Given the description of an element on the screen output the (x, y) to click on. 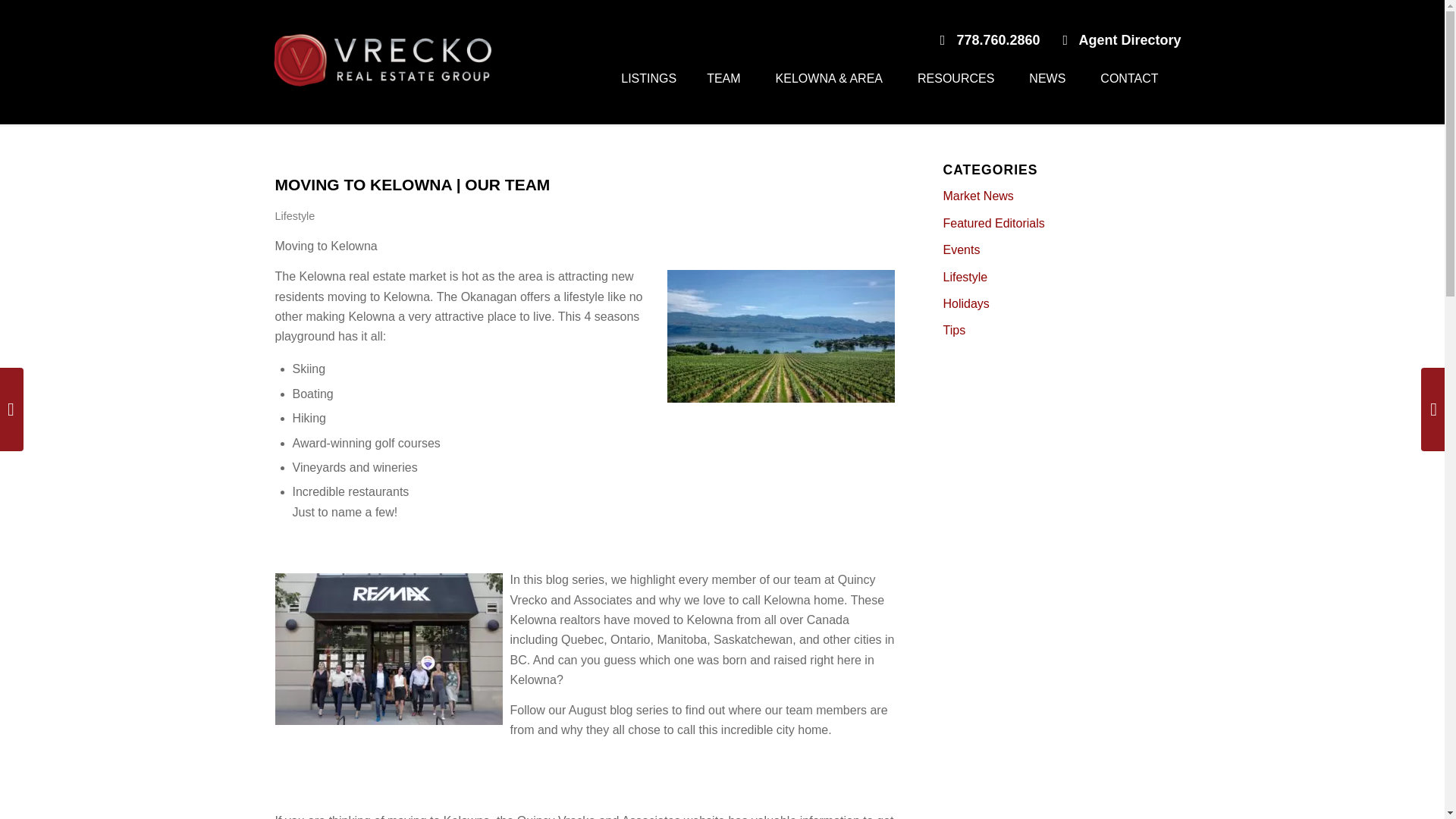
Agent Directory (1121, 39)
LISTINGS (648, 91)
778.760.2860 (990, 39)
RESOURCES (958, 91)
